Given the description of an element on the screen output the (x, y) to click on. 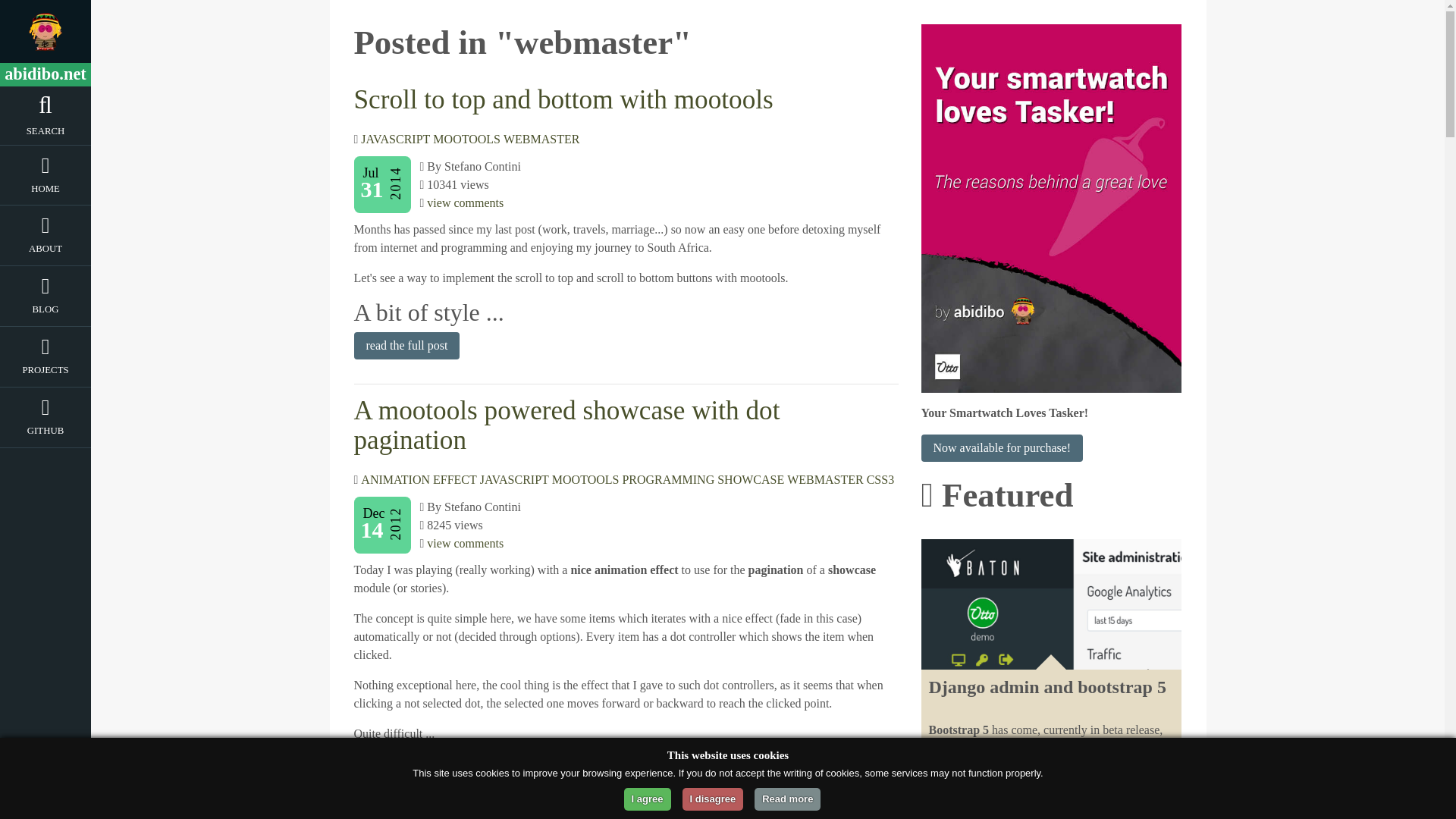
PROGRAMMING (667, 479)
ANIMATION (395, 479)
Github (45, 433)
view comments (464, 202)
read the full post (406, 345)
CSS3 (879, 479)
Projects (45, 373)
GITHUB (45, 433)
PROJECTS (45, 373)
ABOUT (45, 251)
abidibo (45, 31)
view comments (464, 543)
WEBMASTER (541, 138)
EFFECT (454, 479)
read the full post (406, 768)
